Given the description of an element on the screen output the (x, y) to click on. 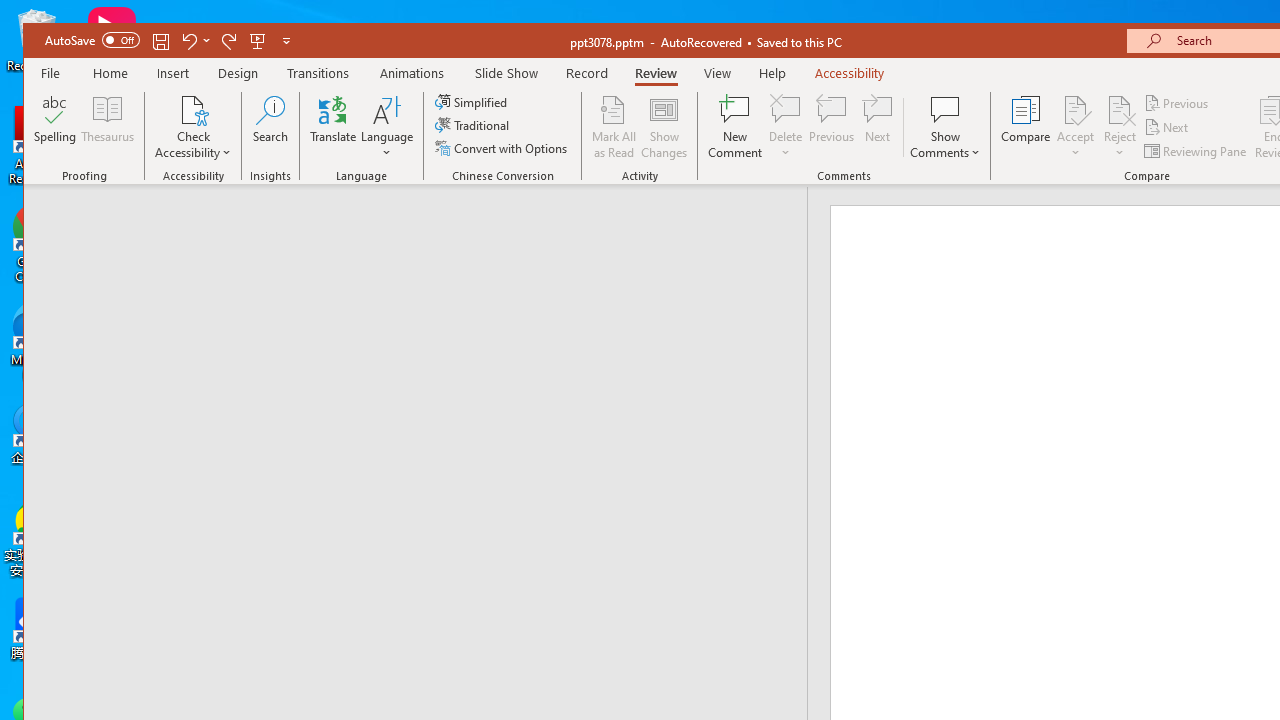
Thesaurus... (107, 127)
Accept Change (1075, 109)
Language (387, 127)
Compare (1025, 127)
Previous (1177, 103)
Reject Change (1119, 109)
Outline (424, 226)
